Given the description of an element on the screen output the (x, y) to click on. 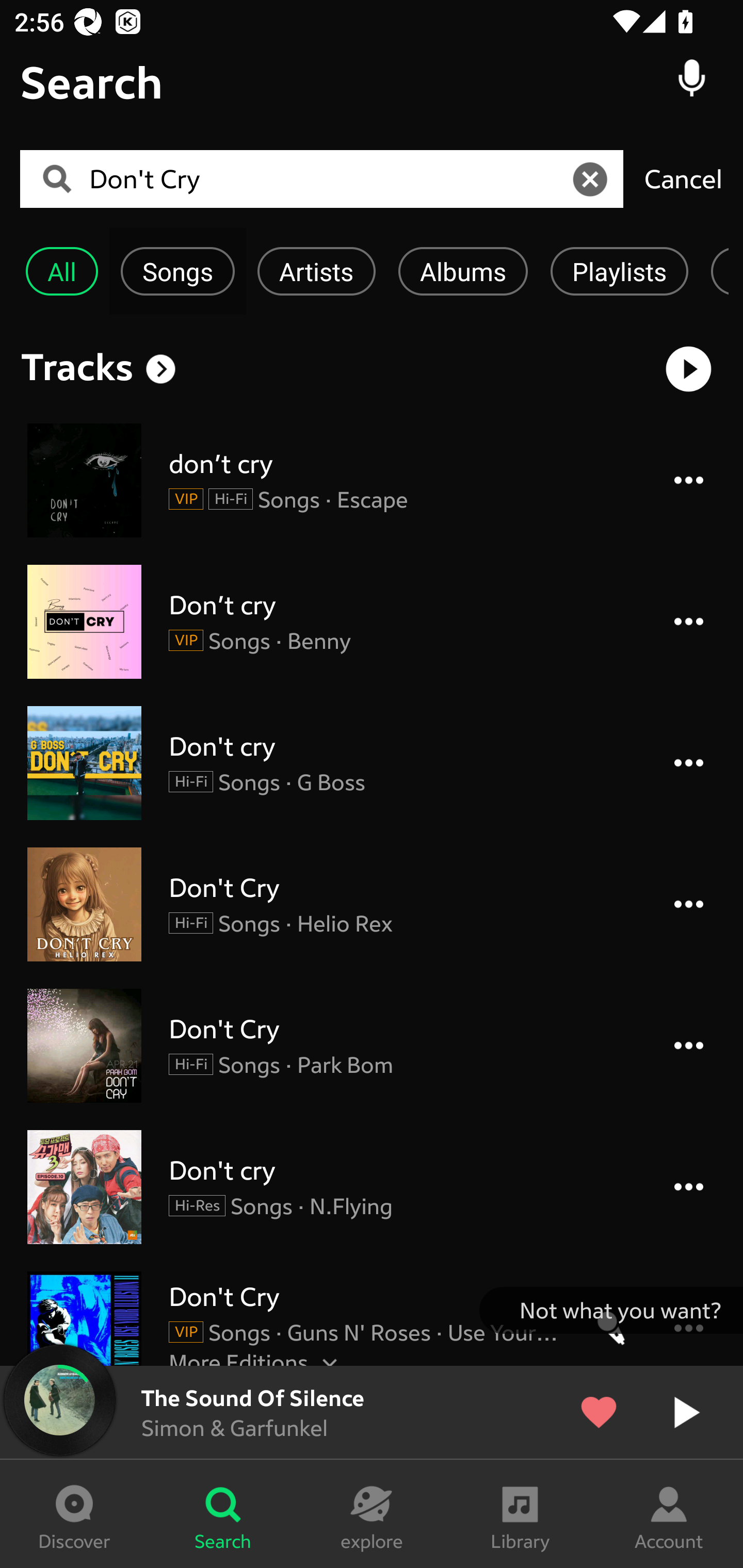
Cancel (683, 178)
Don't Cry (327, 179)
Songs (177, 271)
Artists (316, 271)
Albums (463, 271)
Playlists (619, 271)
Tracks (77, 365)
don’t cry VIP Hi-Fi Songs · Escape (371, 480)
Don’t cry VIP Songs · Benny (371, 621)
Don't cry Hi-Fi Songs · G Boss (371, 762)
Don't Cry Hi-Fi Songs · Helio Rex (371, 903)
Don't Cry Hi-Fi Songs · Park Bom (371, 1045)
Don't cry Hi-Res Songs · N.Flying (371, 1186)
The Sound Of Silence Simon & Garfunkel (371, 1412)
Discover (74, 1513)
explore (371, 1513)
Library (519, 1513)
Account (668, 1513)
